Given the description of an element on the screen output the (x, y) to click on. 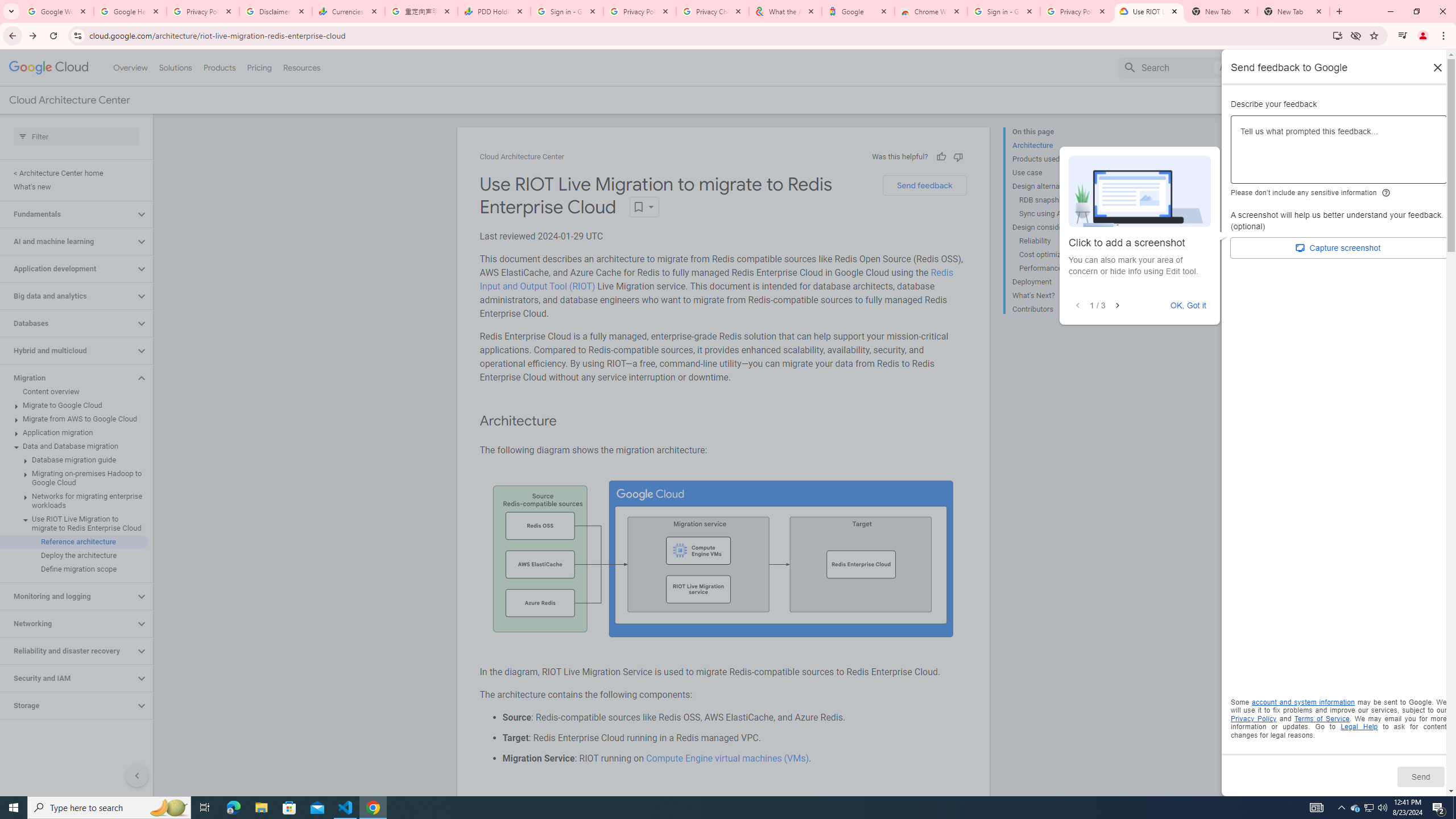
Copy link to this section: Architecture (567, 421)
Google Workspace Admin Community (57, 11)
Previous (1077, 305)
Migration (67, 377)
Compute Engine virtual machines (VMs) (726, 758)
Database migration guide (74, 459)
< Architecture Center home (74, 173)
Define migration scope (74, 568)
OK, Got it (1188, 305)
